Given the description of an element on the screen output the (x, y) to click on. 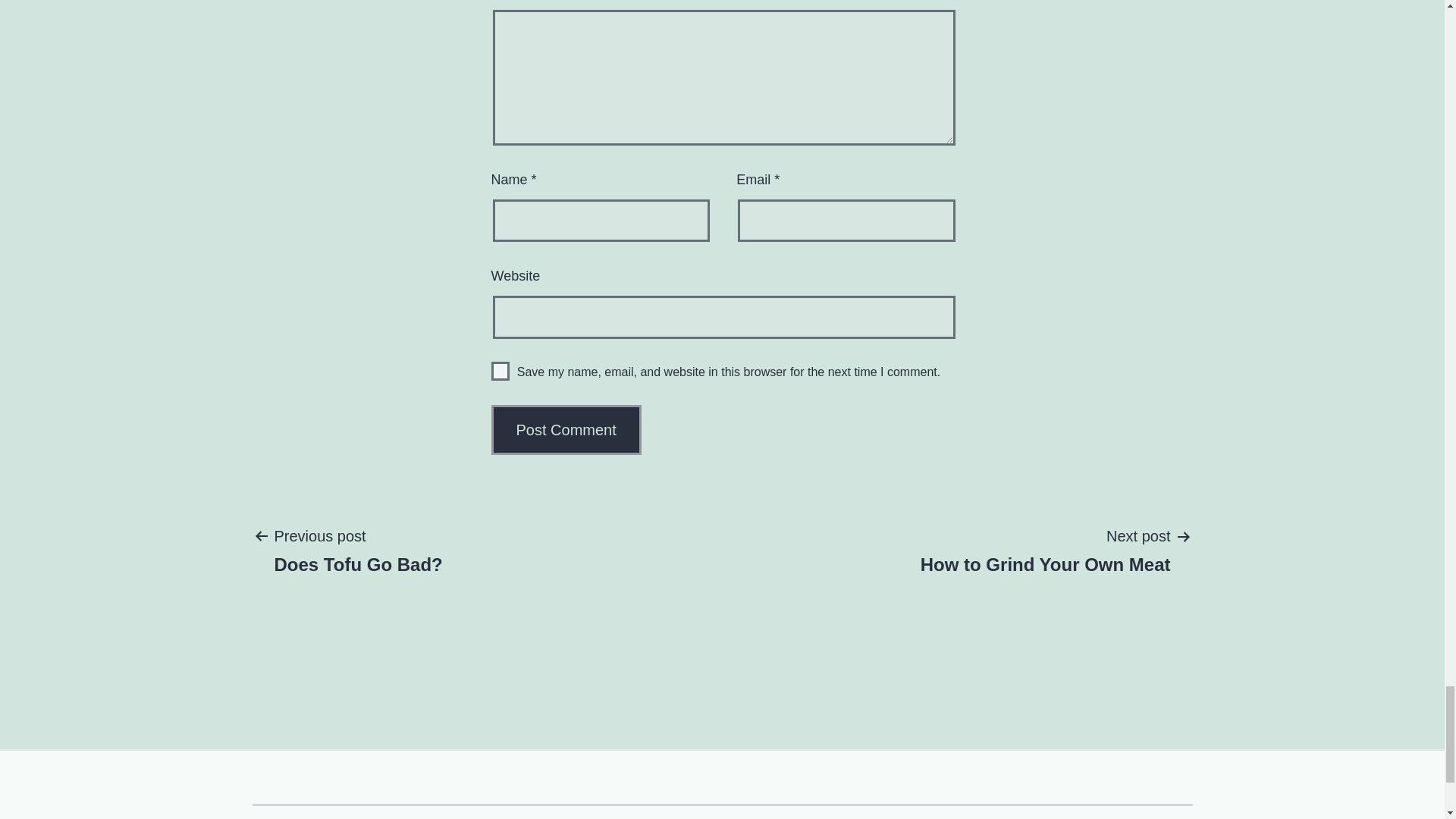
Post Comment (357, 549)
yes (567, 429)
Post Comment (500, 370)
